Given the description of an element on the screen output the (x, y) to click on. 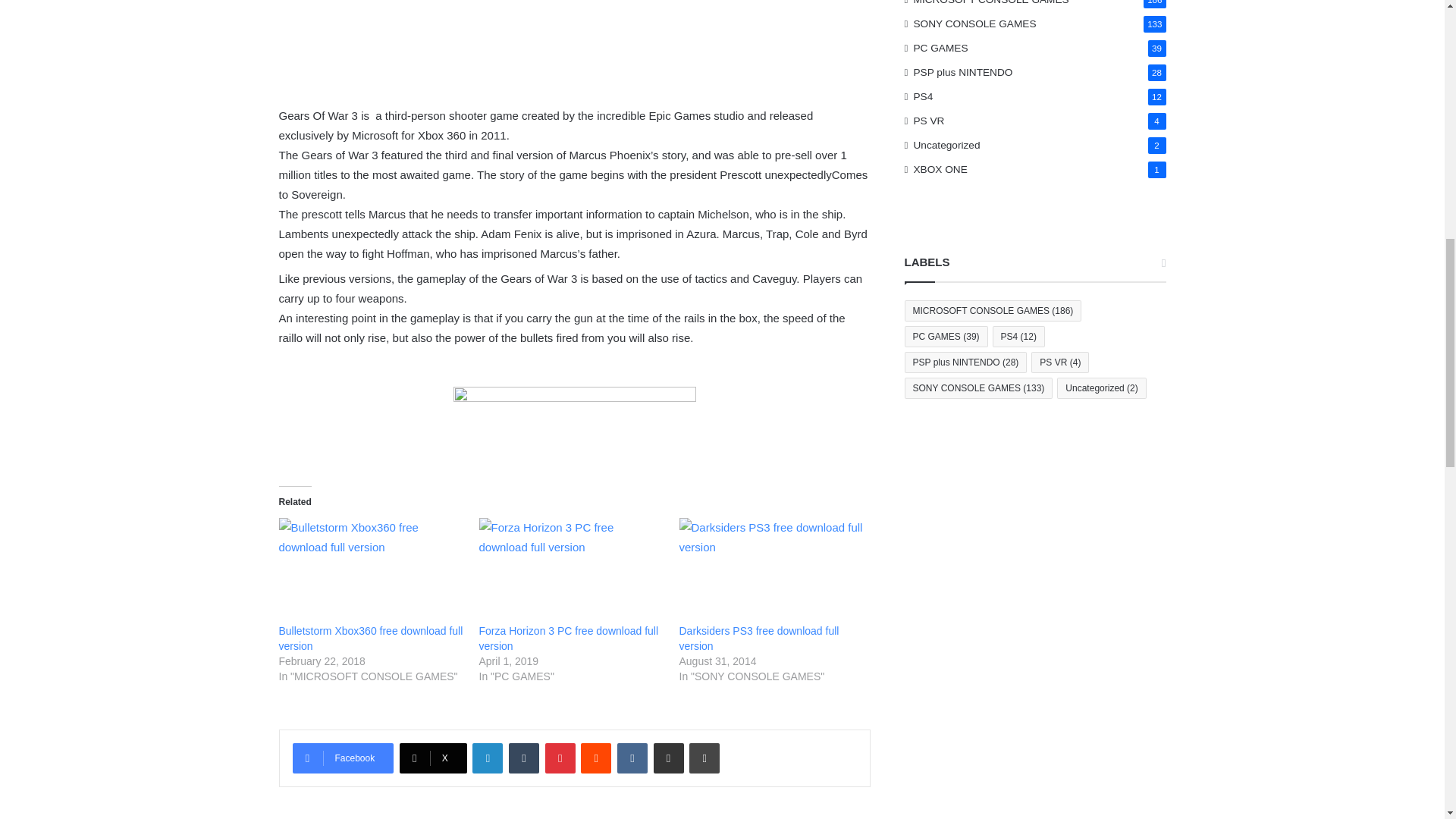
Forza Horizon 3 PC free download full version (569, 637)
Pinterest (559, 757)
Facebook (343, 757)
Tumblr (523, 757)
X (432, 757)
Bulletstorm Xbox360 free download full version (371, 570)
Bulletstorm Xbox360 free download full version (371, 637)
LinkedIn (486, 757)
Darksiders PS3 free download full version (759, 637)
